Given the description of an element on the screen output the (x, y) to click on. 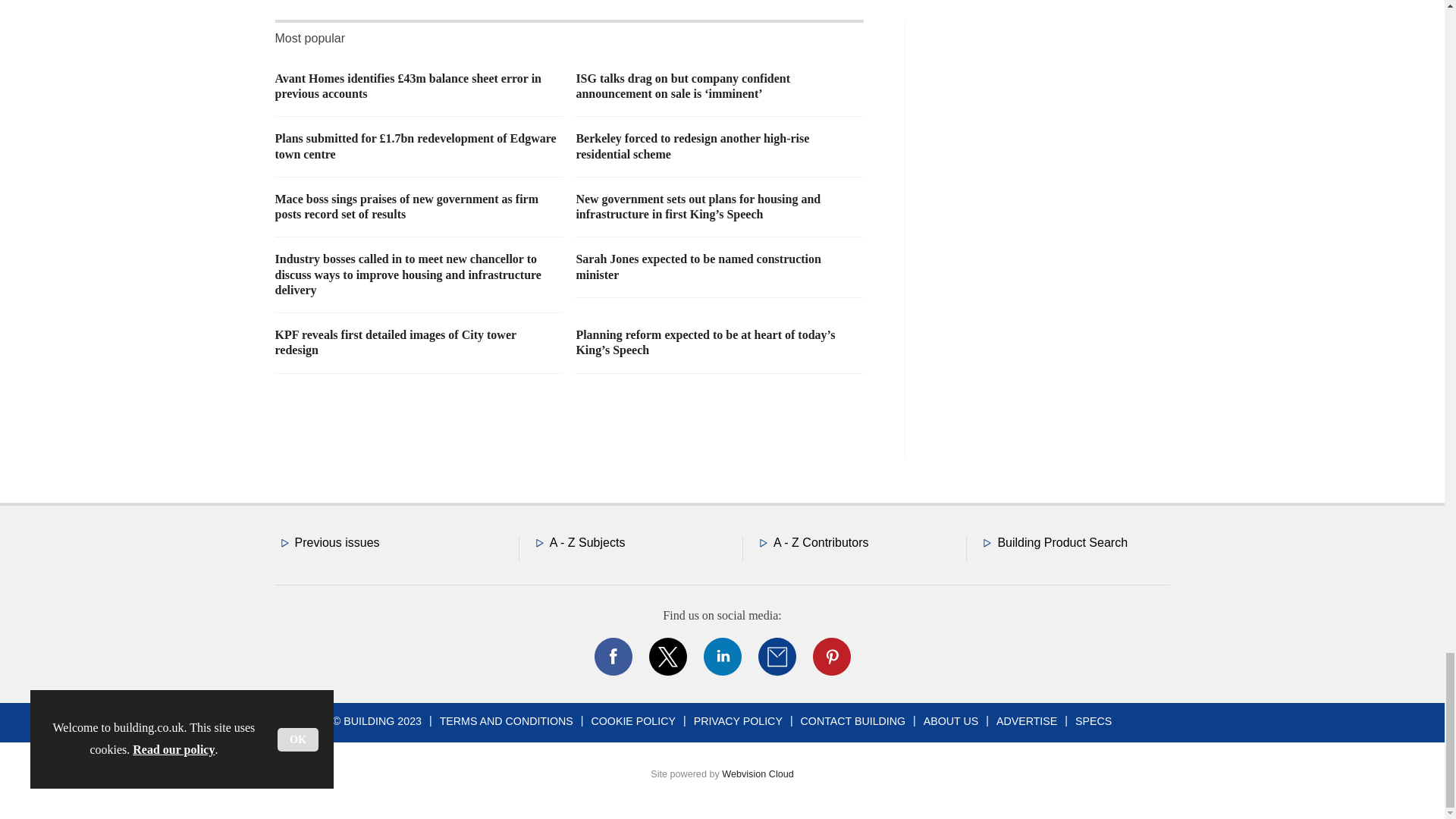
Connect with us on Facebook (611, 656)
Connect with us on Twitter (667, 656)
Connect with us on Pinterest (830, 656)
Connect with us on Linked in (721, 656)
Email us (776, 656)
